Given the description of an element on the screen output the (x, y) to click on. 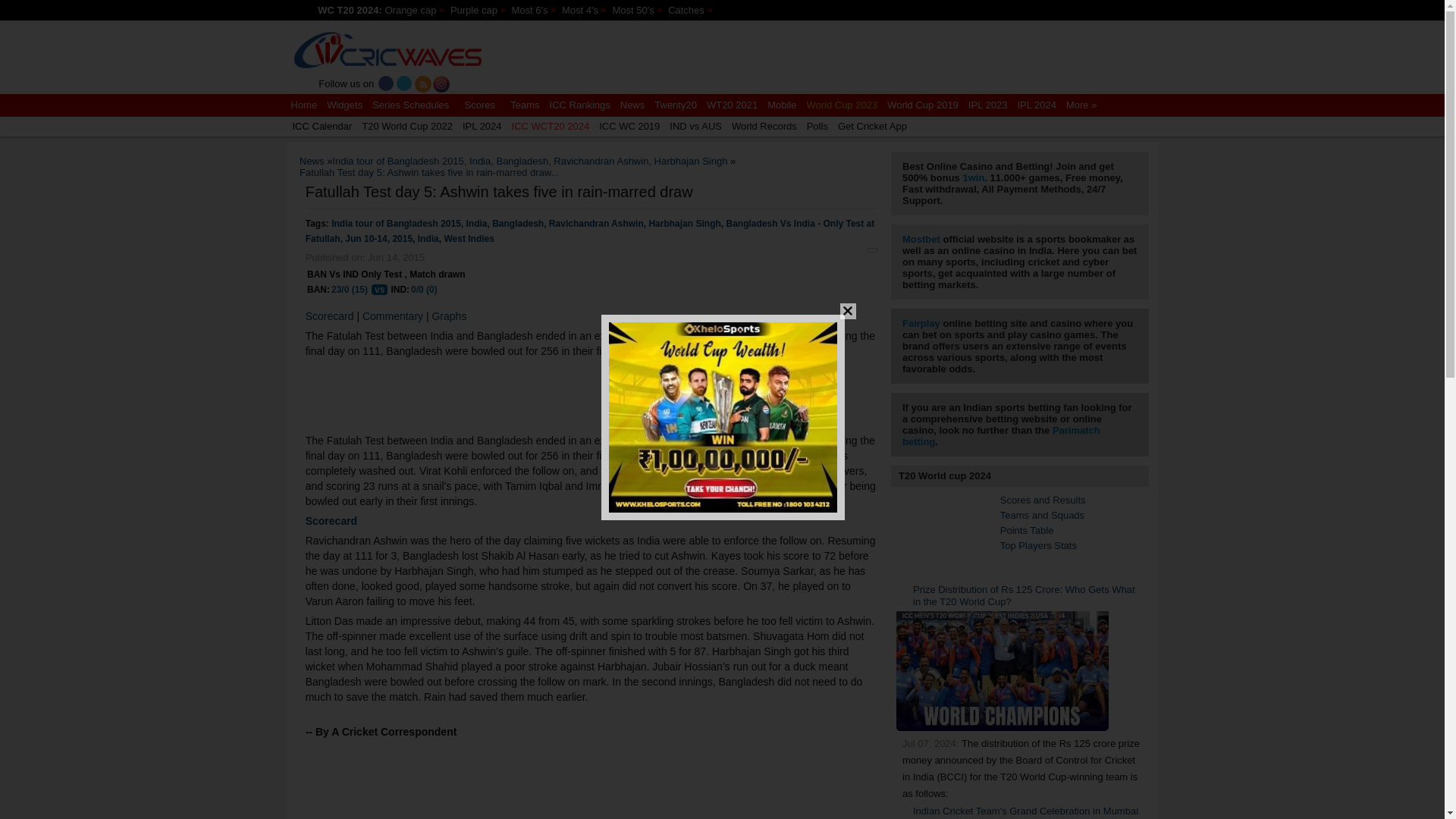
Live Cricket Scores (386, 52)
Top runs Scorers (411, 9)
Most 6s by player  (530, 9)
For Live Cricket Scores (388, 57)
Orange cap (411, 9)
Top Wickets takers  (474, 9)
WC T20 2024: (350, 9)
Catches (687, 9)
Most 50's (633, 9)
Live Cricket Scores (304, 105)
Teams (524, 105)
Home (304, 105)
Most 4's (581, 9)
  Scores   (479, 105)
Most 4s by player  (581, 9)
